Given the description of an element on the screen output the (x, y) to click on. 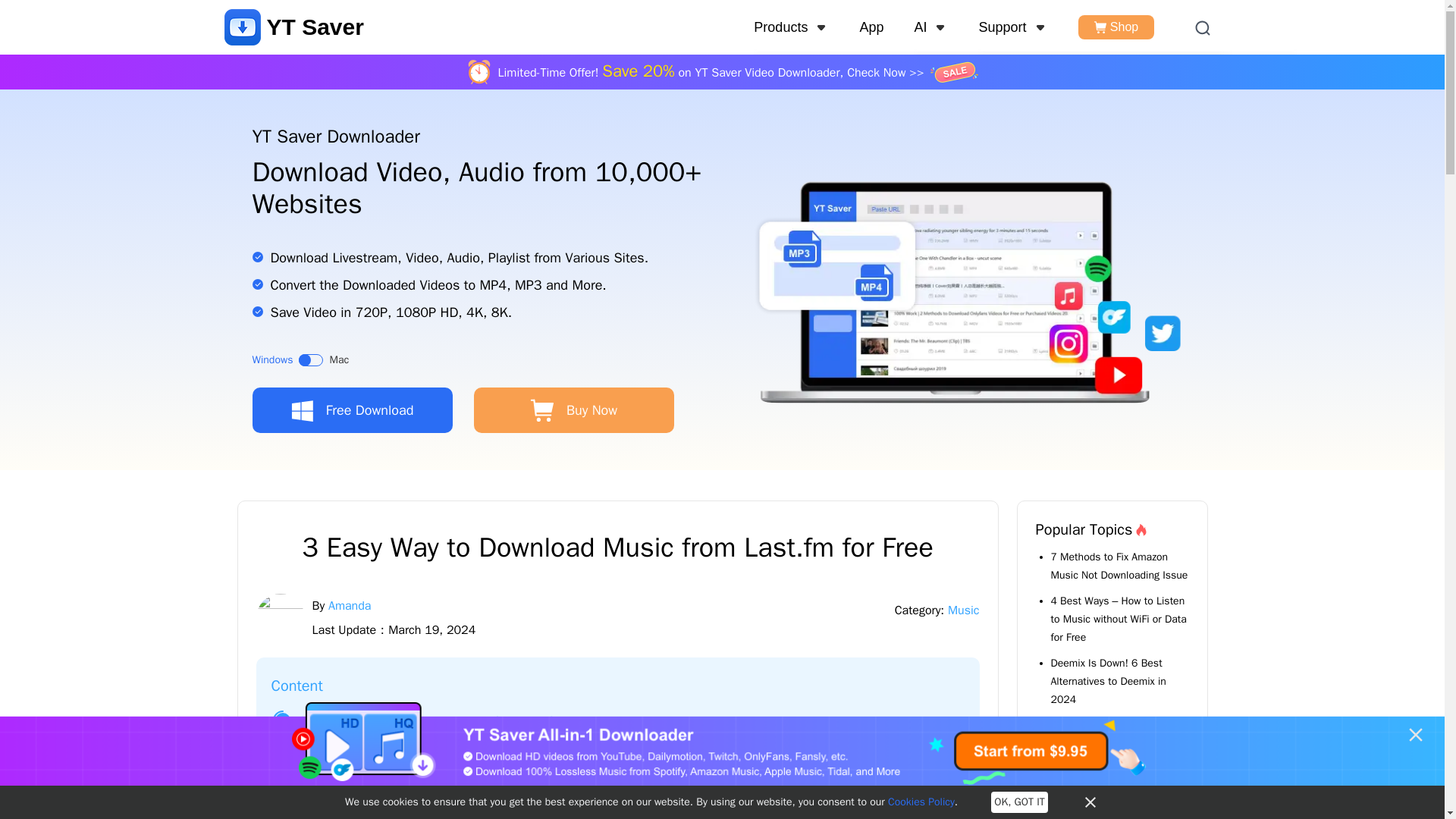
Shop (1116, 27)
Buy Now (572, 410)
Free Download (351, 410)
Official Way to Free Download Music from Last.fm (430, 721)
How to Download Last.fm Songs for Free with Online Tool (450, 775)
YT Saver (294, 27)
Music (963, 610)
App (871, 26)
Amanda (350, 605)
